Given the description of an element on the screen output the (x, y) to click on. 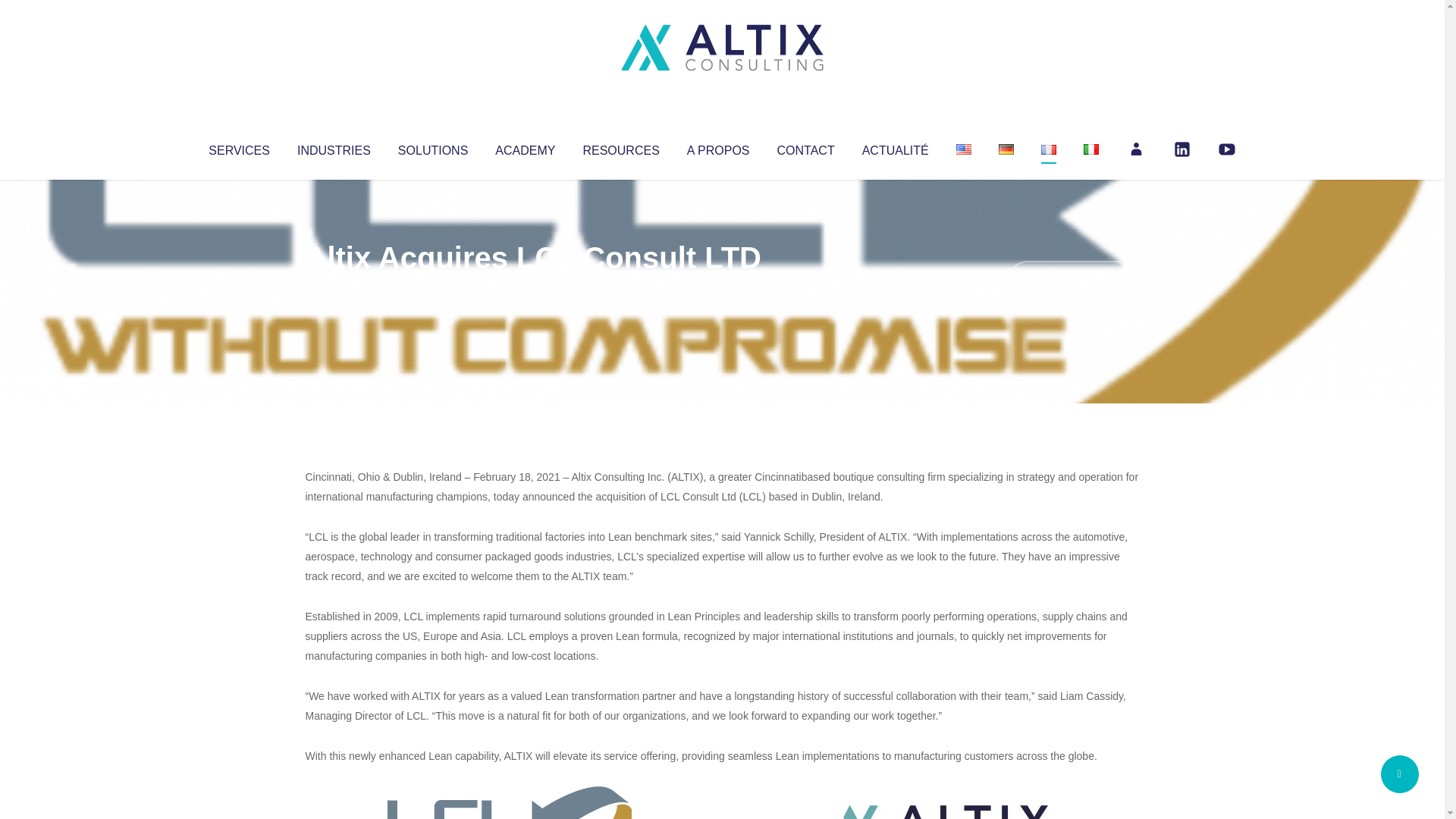
SERVICES (238, 146)
SOLUTIONS (432, 146)
ACADEMY (524, 146)
RESOURCES (620, 146)
Uncategorized (530, 287)
A PROPOS (718, 146)
INDUSTRIES (334, 146)
Articles par Altix (333, 287)
Altix (333, 287)
No Comments (1073, 278)
